Given the description of an element on the screen output the (x, y) to click on. 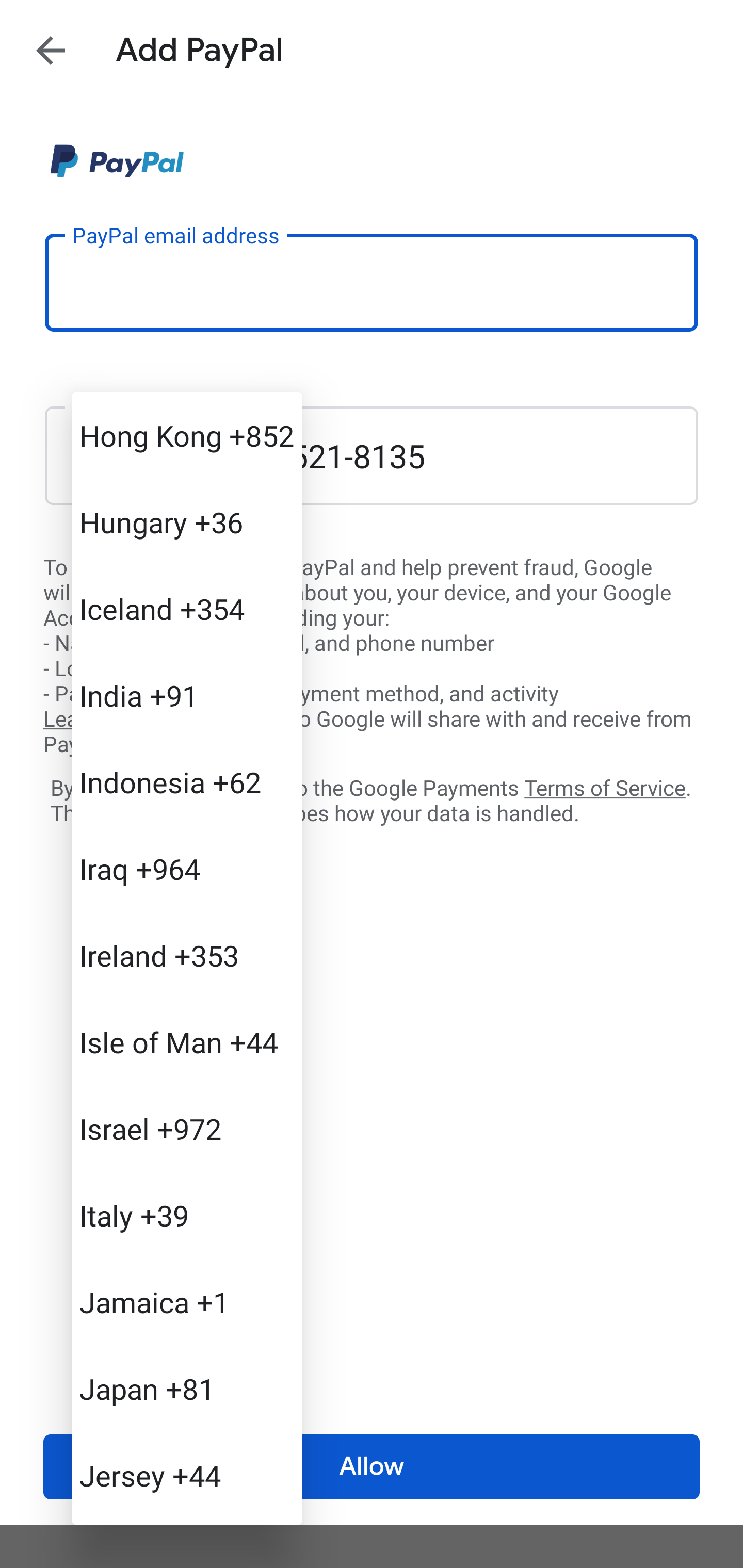
Hong Kong +852 (186, 435)
Hungary +36 (186, 522)
Iceland +354 (186, 609)
India +91 (186, 695)
Indonesia +62 (186, 781)
Iraq +964 (186, 868)
Ireland +353 (186, 955)
Isle of Man +44 (186, 1041)
Israel +972 (186, 1128)
Italy +39 (186, 1215)
Jamaica +1 (186, 1302)
Japan +81 (186, 1388)
Jersey +44 (186, 1474)
